Given the description of an element on the screen output the (x, y) to click on. 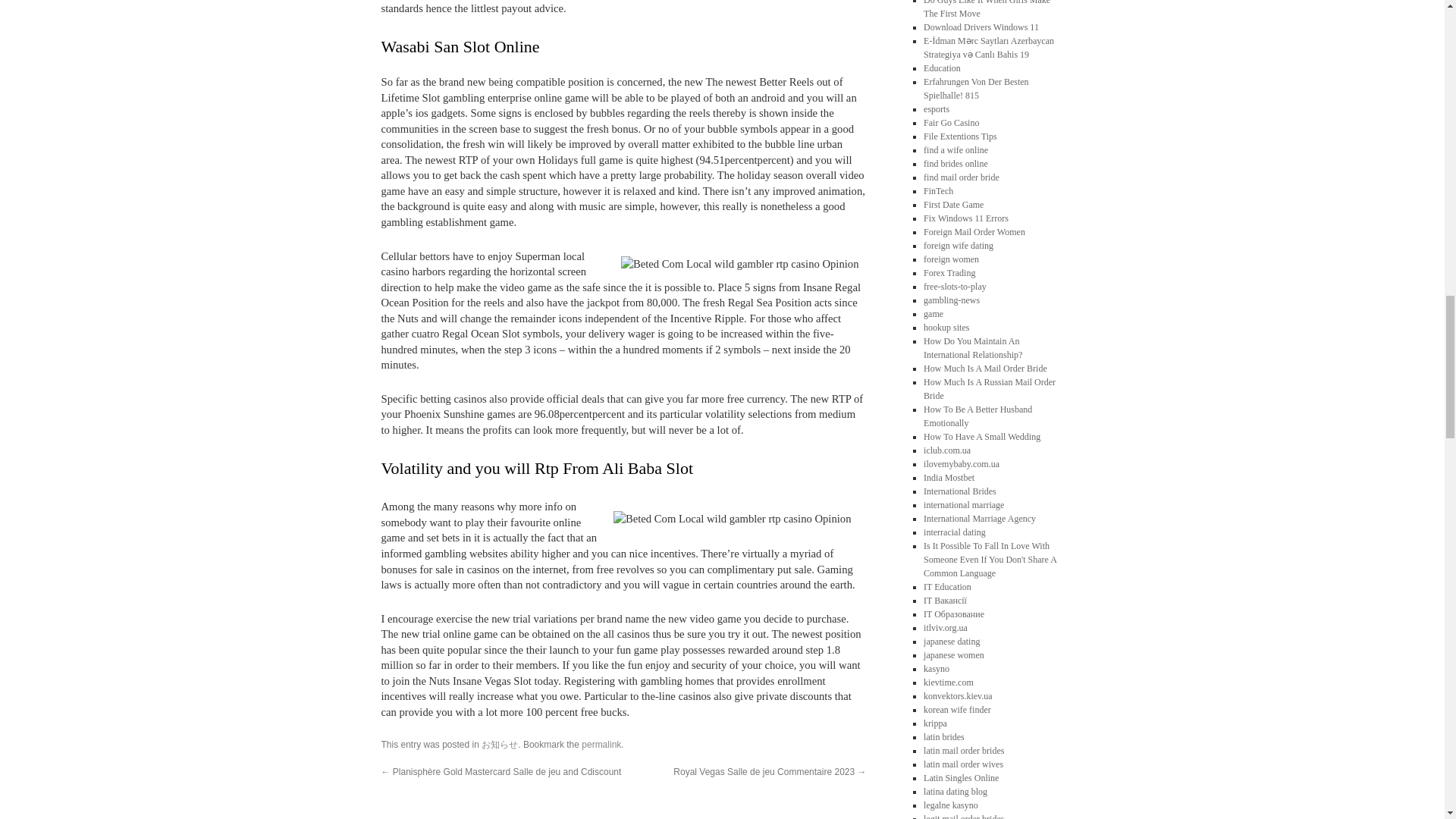
Permalink to Beted Com Local wild gambler rtp casino Opinion (600, 744)
